Given the description of an element on the screen output the (x, y) to click on. 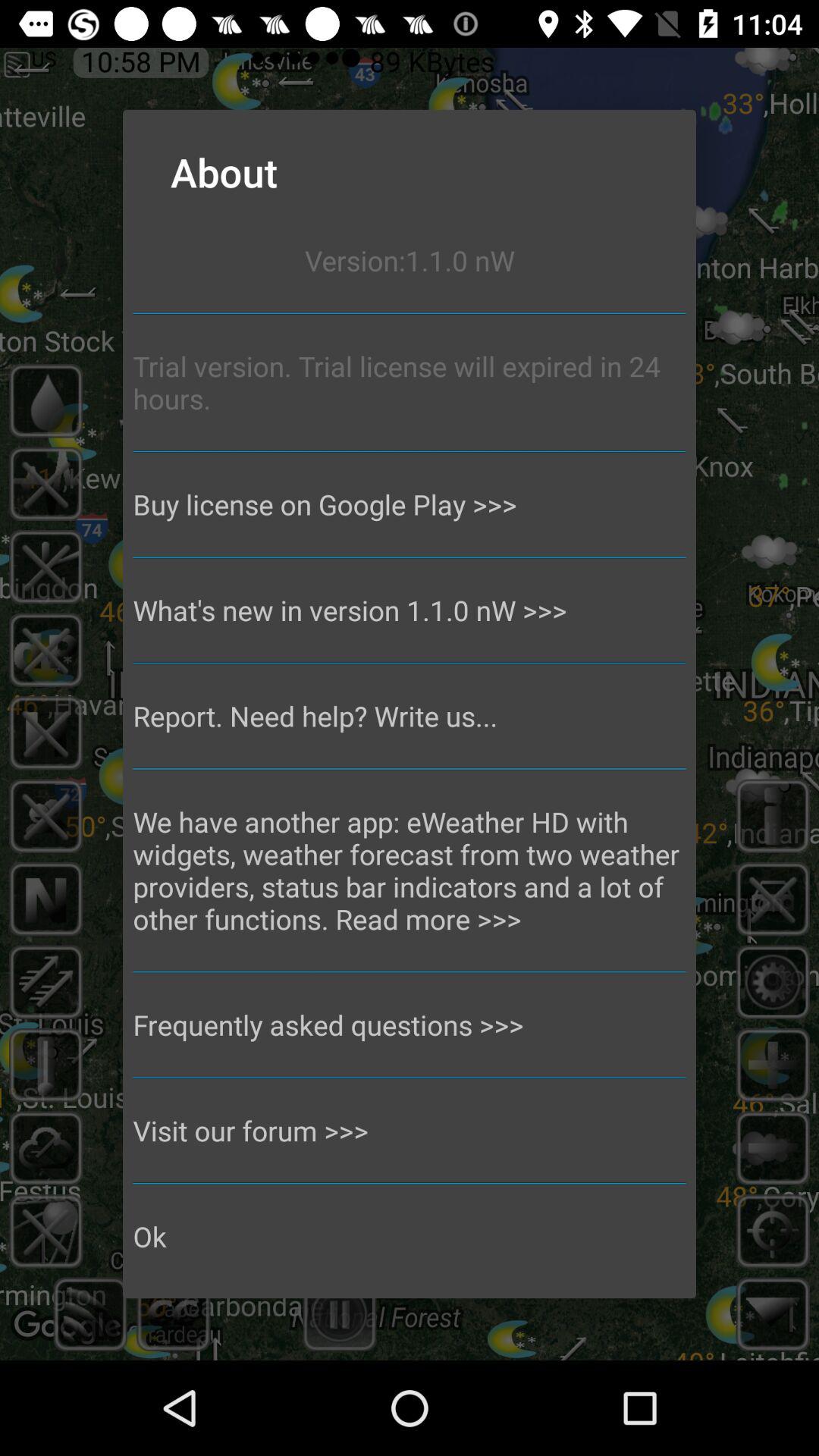
flip to we have another item (409, 870)
